Given the description of an element on the screen output the (x, y) to click on. 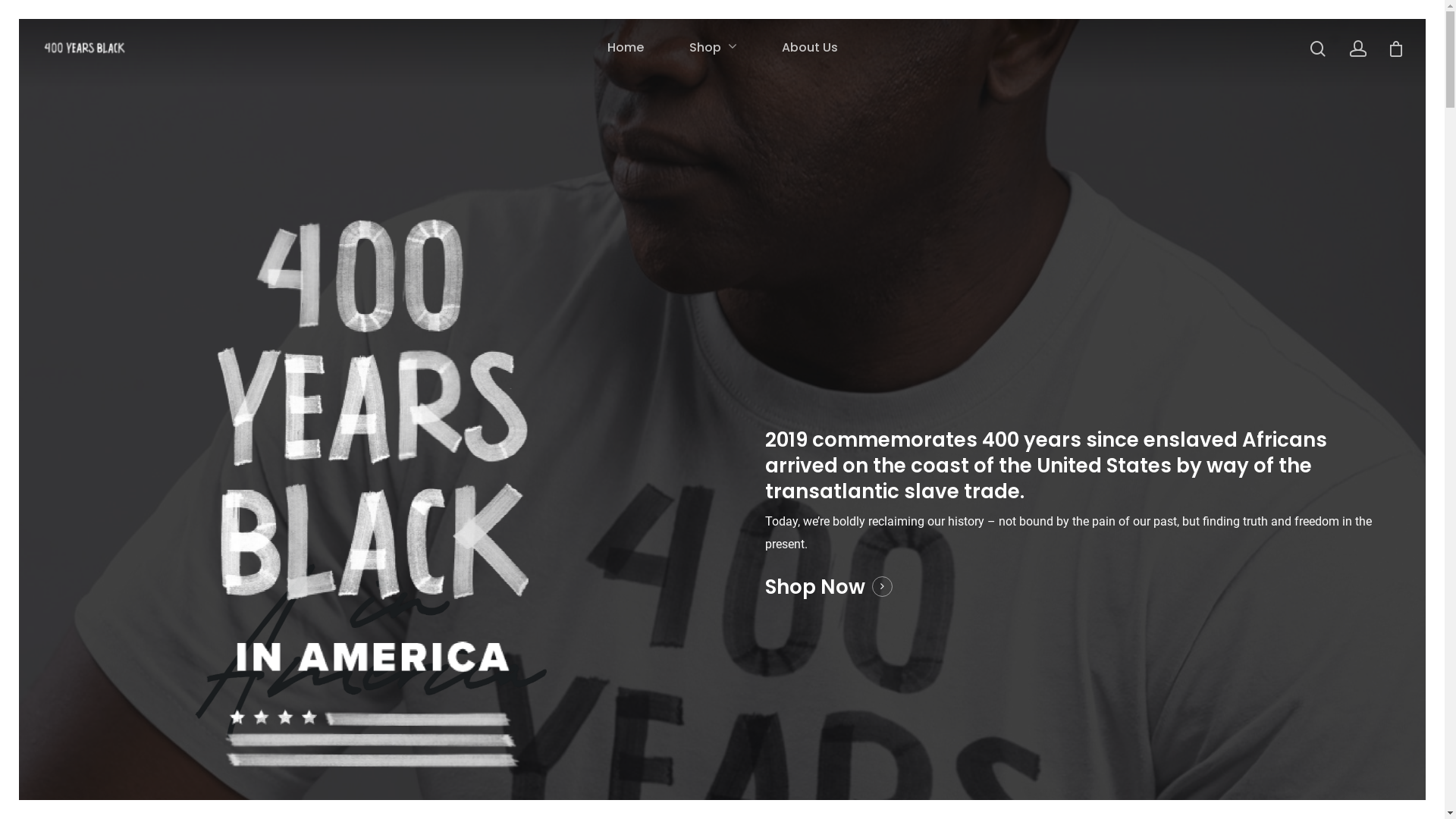
Shop Element type: text (711, 47)
About Us Element type: text (809, 47)
Shop Now Element type: text (828, 586)
Home Element type: text (624, 47)
